Given the description of an element on the screen output the (x, y) to click on. 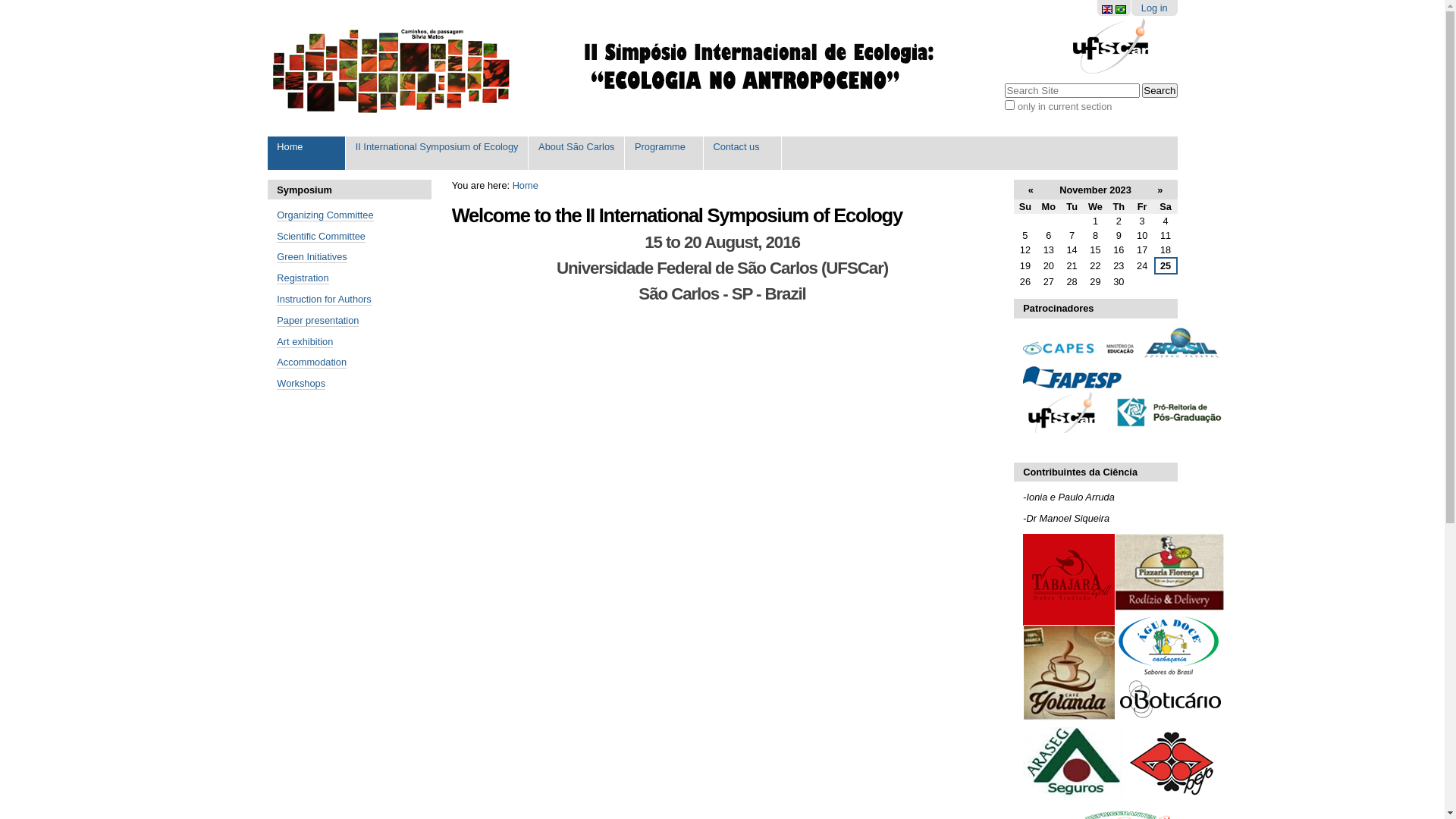
Paper presentation Element type: text (317, 320)
II International Symposium of Ecology Element type: text (436, 152)
Search Site Element type: hover (1071, 90)
English Element type: hover (1108, 7)
Home Element type: text (525, 185)
Instruction for Authors Element type: text (323, 299)
Programme Element type: text (663, 152)
Contact us Element type: text (742, 152)
Scientific Committee Element type: text (320, 236)
Registration Element type: text (302, 278)
Art exhibition Element type: text (304, 341)
English Element type: hover (1106, 9)
Accommodation Element type: text (311, 362)
Search Element type: text (1159, 90)
Organizing Committee Element type: text (324, 215)
Home Element type: text (305, 152)
Workshops Element type: text (300, 383)
Log in Element type: text (1154, 7)
Green Initiatives Element type: text (311, 257)
